Given the description of an element on the screen output the (x, y) to click on. 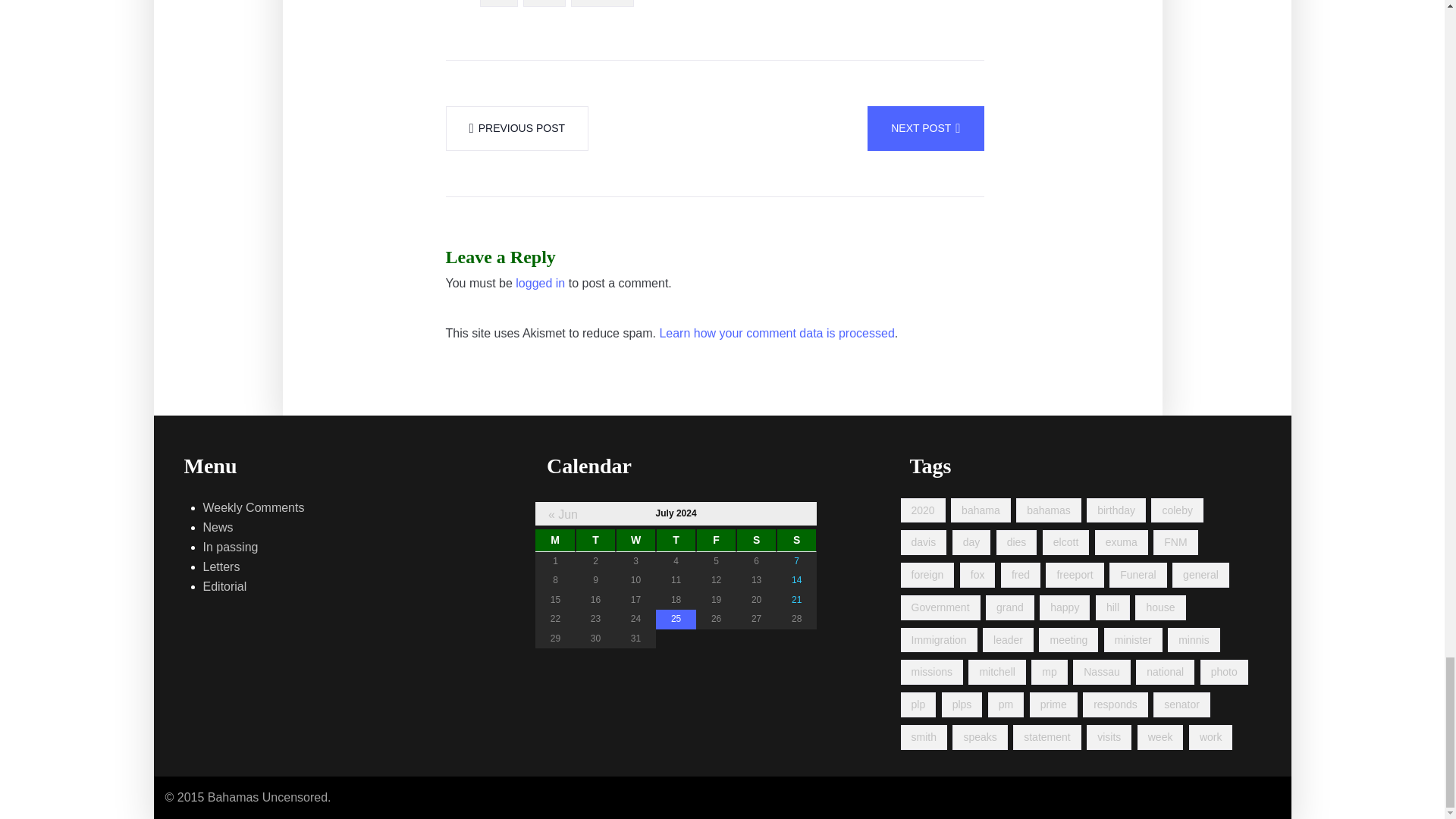
man (543, 3)
Letters (221, 567)
Monday (555, 540)
Friday (715, 540)
Sunday (796, 540)
Weekly Comments (253, 507)
wrecking (601, 3)
Thursday (675, 540)
NEXT POST (925, 128)
Saturday (756, 540)
PREVIOUS POST (517, 128)
logged in (539, 283)
In passing (231, 547)
News (217, 527)
Learn how your comment data is processed (776, 333)
